Given the description of an element on the screen output the (x, y) to click on. 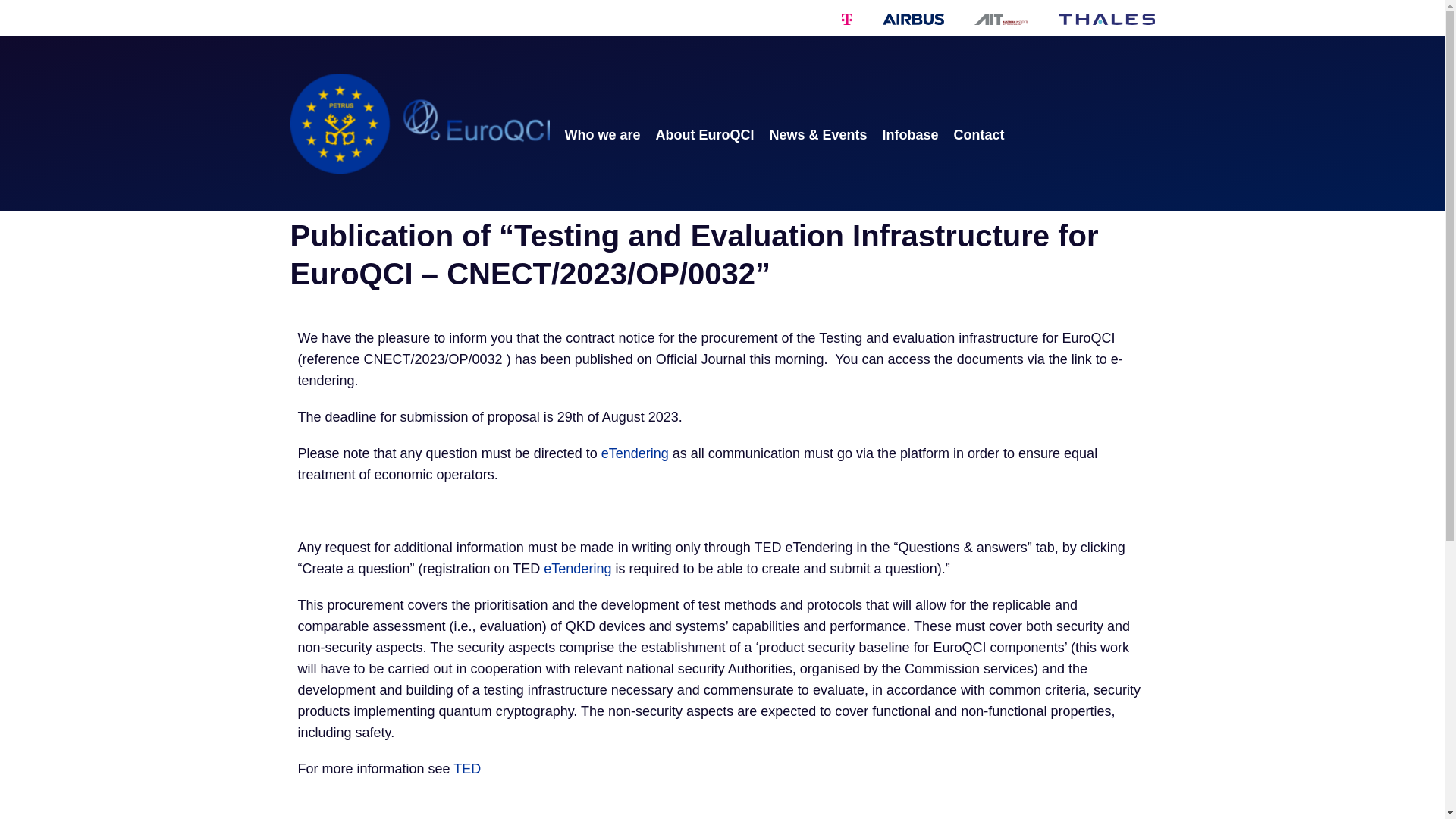
Infobase (910, 134)
Who we are (602, 134)
About EuroQCI (705, 134)
Contact (978, 134)
